Given the description of an element on the screen output the (x, y) to click on. 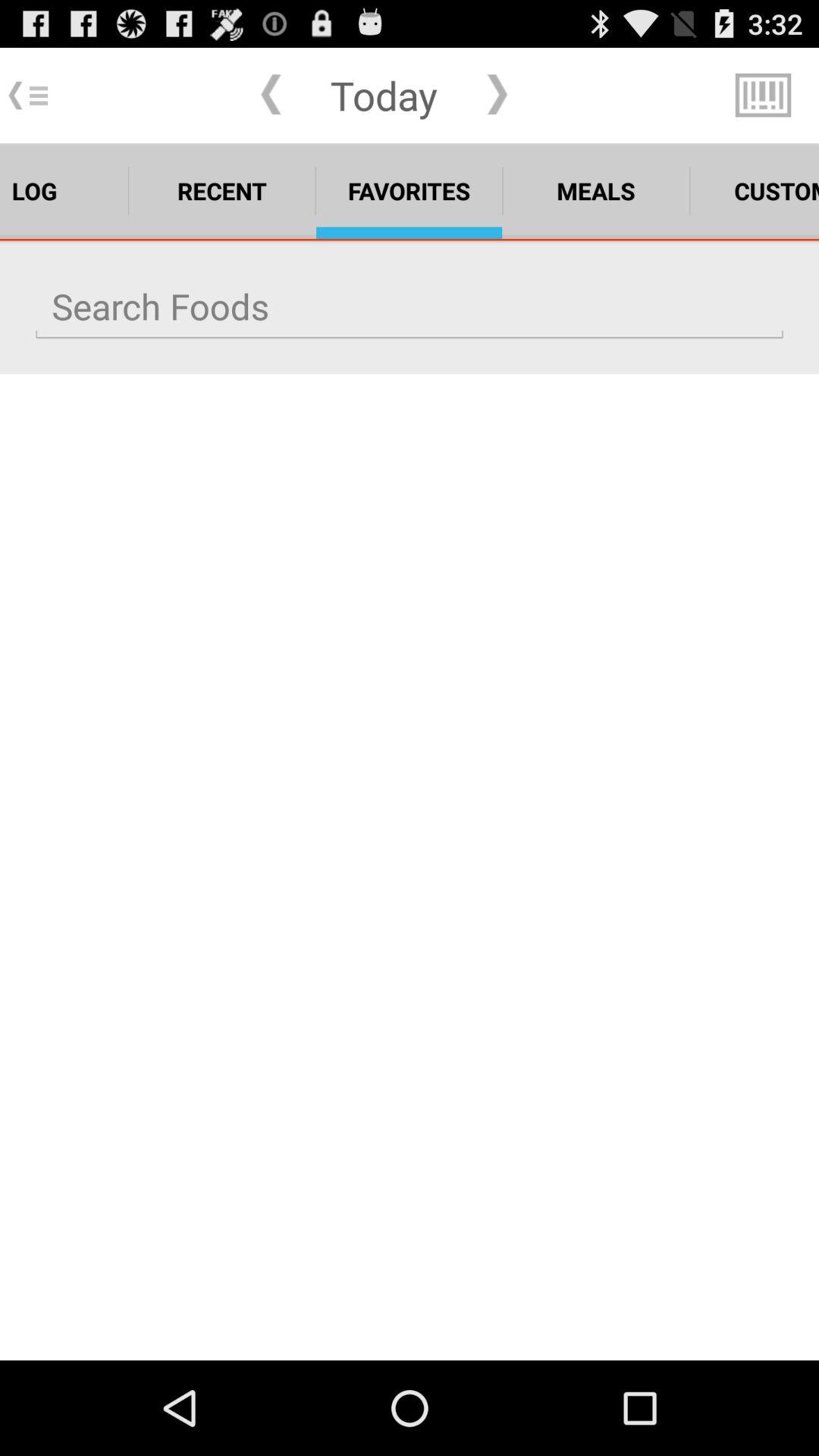
search bar (409, 306)
